Given the description of an element on the screen output the (x, y) to click on. 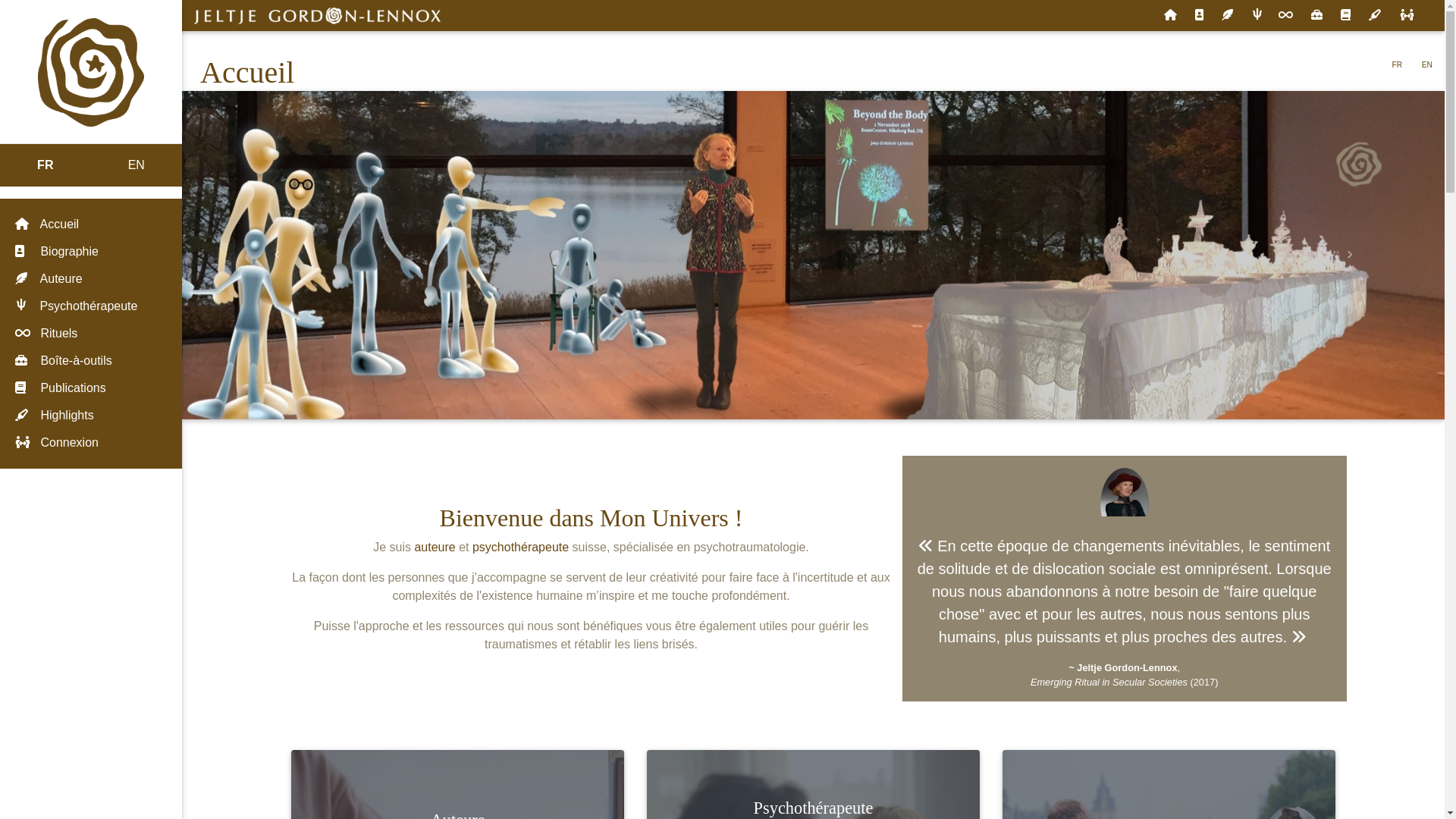
Connexion Element type: text (91, 442)
Accueil Element type: hover (1170, 15)
EN Element type: text (1426, 64)
EN Element type: text (136, 165)
Publications Element type: hover (1345, 15)
Connexion Element type: hover (1406, 15)
auteure Element type: text (434, 546)
Auteure Element type: hover (1227, 15)
Highlights Element type: hover (1374, 15)
Rituels Element type: hover (1285, 15)
Biographie Element type: text (91, 251)
Publications Element type: text (91, 387)
FR Element type: text (1397, 64)
Accueil Element type: text (91, 224)
Previous Element type: text (276, 255)
Rituels Element type: text (91, 333)
Highlights Element type: text (91, 415)
FR Element type: text (45, 165)
Auteure Element type: text (91, 278)
Biographie Element type: hover (1199, 15)
Next Element type: text (1349, 255)
